Given the description of an element on the screen output the (x, y) to click on. 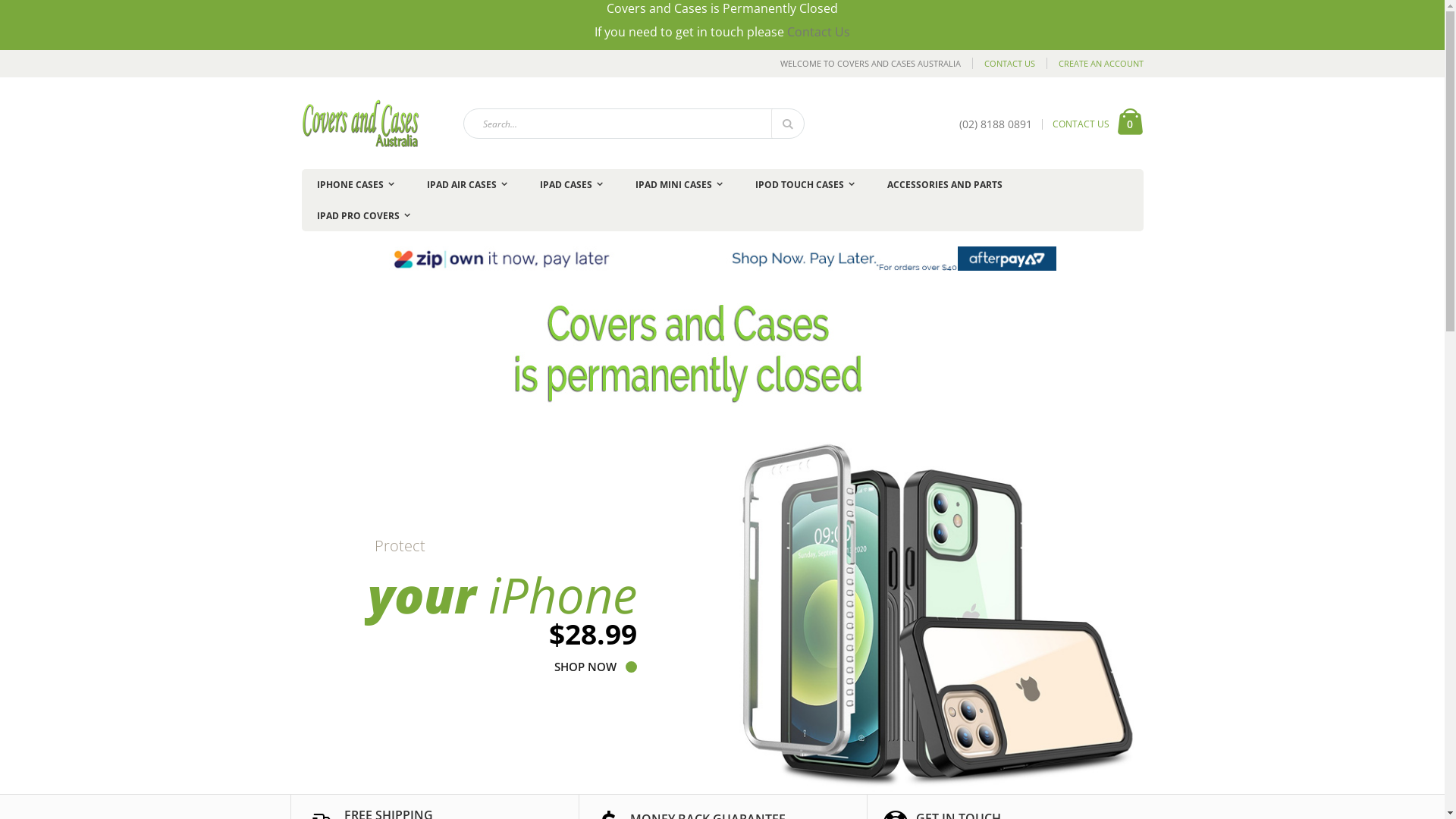
Contact Us Element type: text (818, 31)
Cart
0 Element type: text (1129, 123)
IPAD PRO COVERS Element type: text (363, 215)
IPAD MINI CASES Element type: text (678, 184)
IPOD TOUCH CASES Element type: text (804, 184)
IPHONE CASES Element type: text (355, 184)
Skip to Content Element type: text (300, 56)
IPAD AIR CASES Element type: text (466, 184)
Search Element type: text (786, 123)
ACCESSORIES AND PARTS Element type: text (944, 184)
CONTACT US Element type: text (1080, 124)
CREATE AN ACCOUNT Element type: text (1094, 63)
CONTACT US Element type: text (1009, 63)
IPAD CASES Element type: text (571, 184)
